Given the description of an element on the screen output the (x, y) to click on. 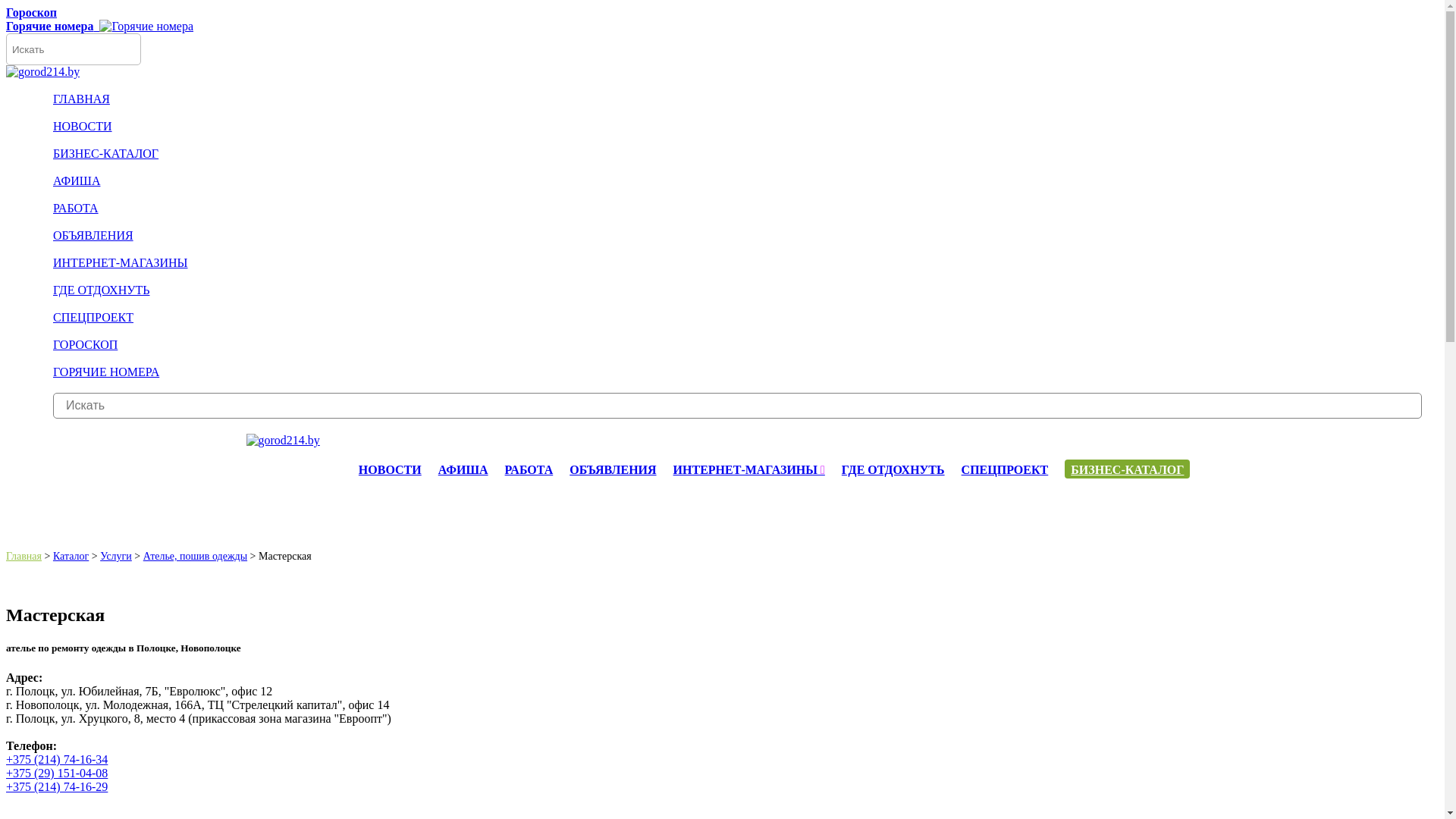
+375 (214) 74-16-29 Element type: text (56, 786)
+375 (29) 151-04-08 Element type: text (56, 772)
+375 (214) 74-16-34 Element type: text (56, 759)
